Given the description of an element on the screen output the (x, y) to click on. 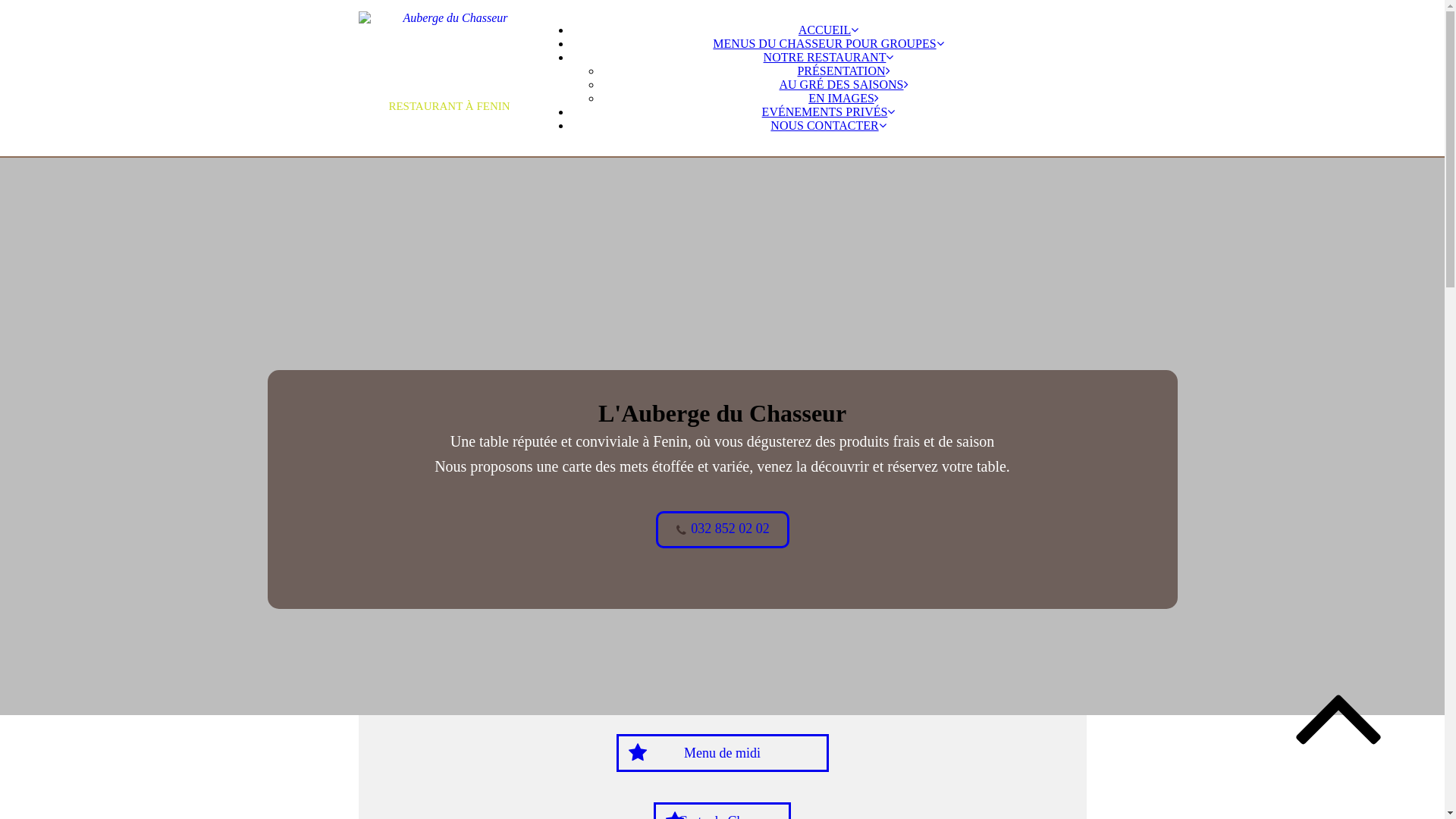
ACCUEIL Element type: text (828, 29)
Menu de midi Element type: text (721, 752)
NOTRE RESTAURANT Element type: text (828, 56)
032 852 02 02 Element type: text (721, 529)
NOUS CONTACTER Element type: text (827, 125)
EN IMAGES Element type: text (843, 97)
MENUS DU CHASSEUR POUR GROUPES Element type: text (827, 43)
